Given the description of an element on the screen output the (x, y) to click on. 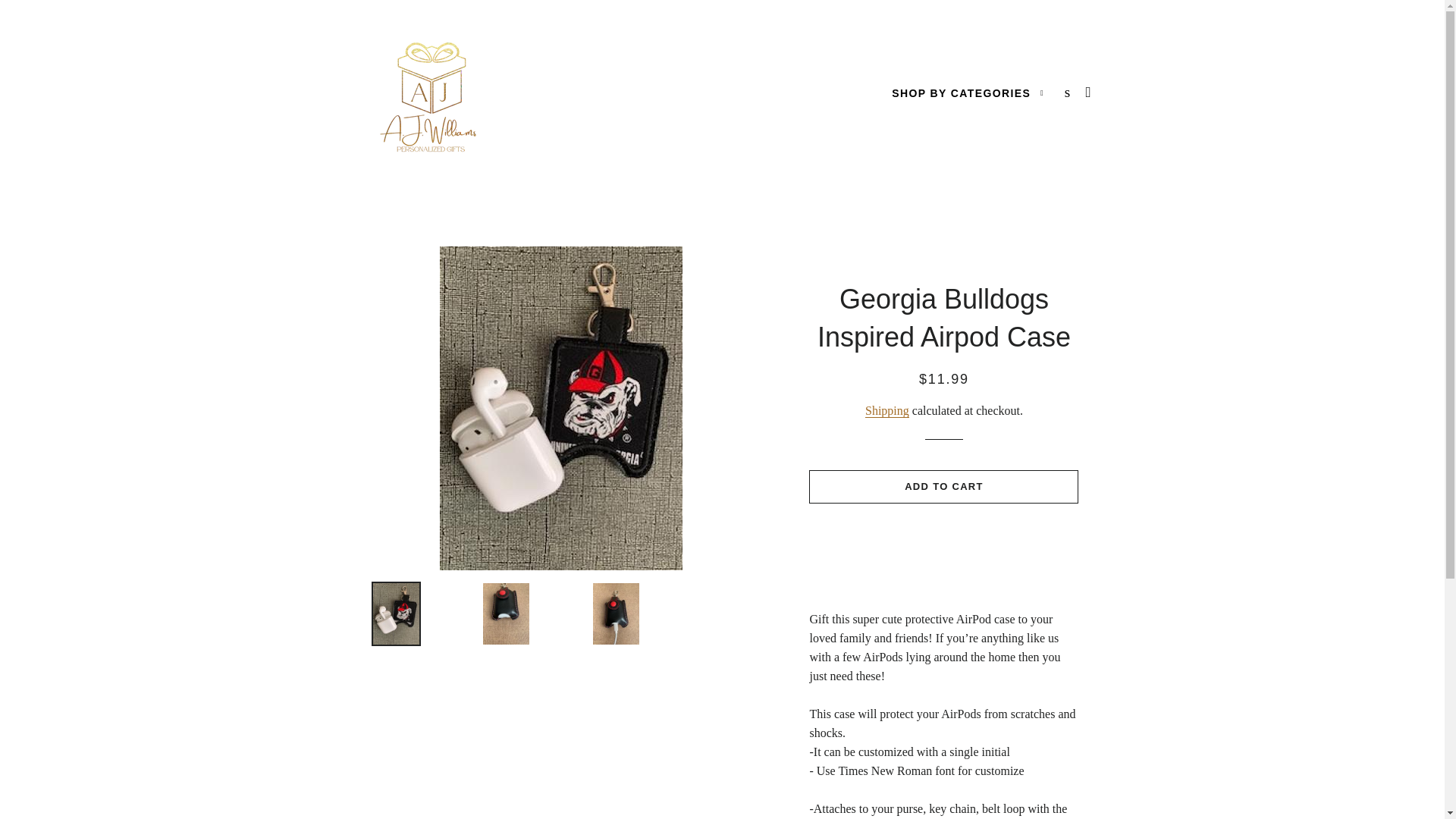
SHOP BY CATEGORIES (967, 93)
Shipping (886, 410)
ADD TO CART (943, 486)
